Given the description of an element on the screen output the (x, y) to click on. 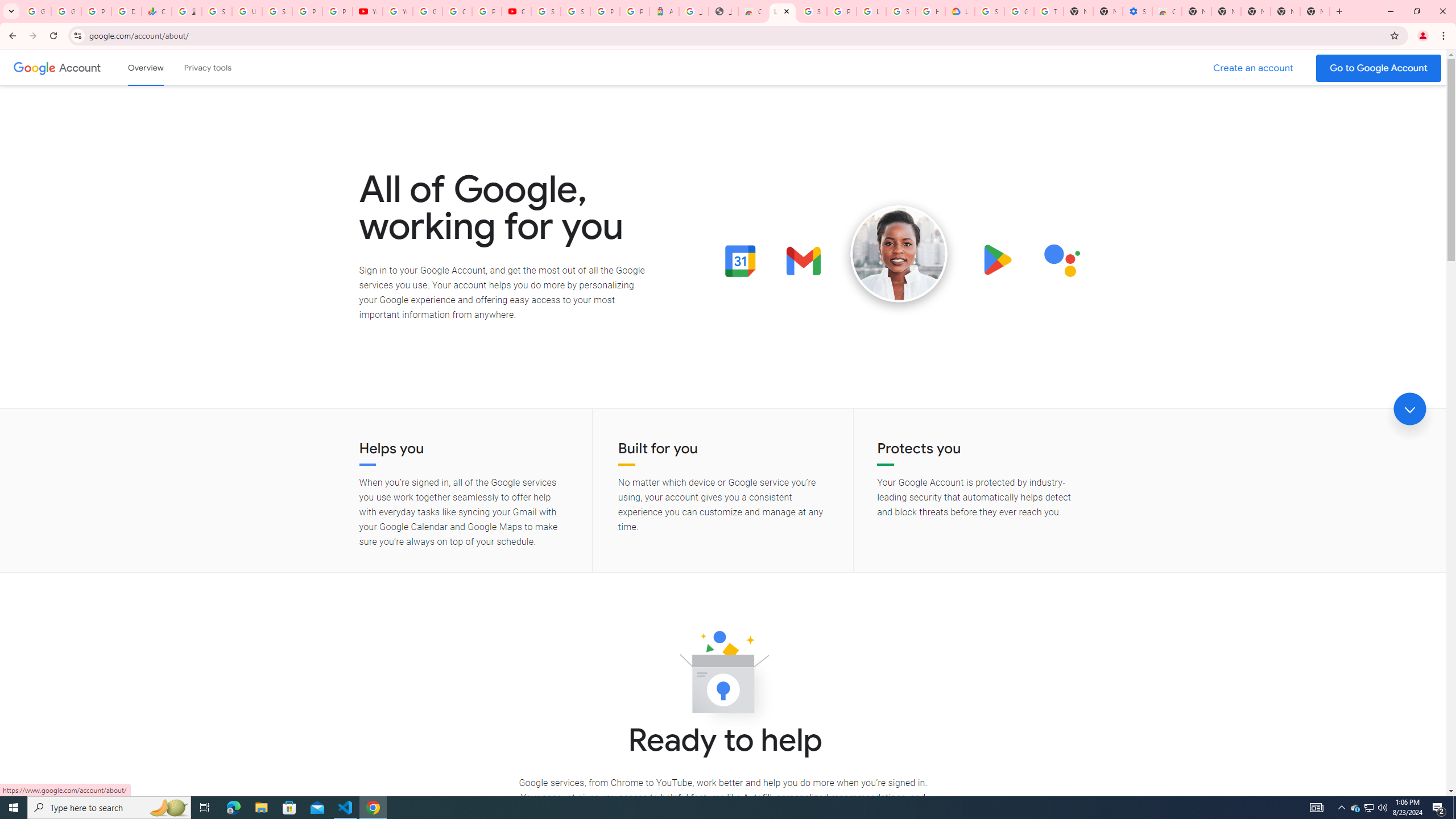
Ready to help (722, 675)
System (6, 6)
Address and search bar (735, 35)
Chrome (1445, 35)
